Given the description of an element on the screen output the (x, y) to click on. 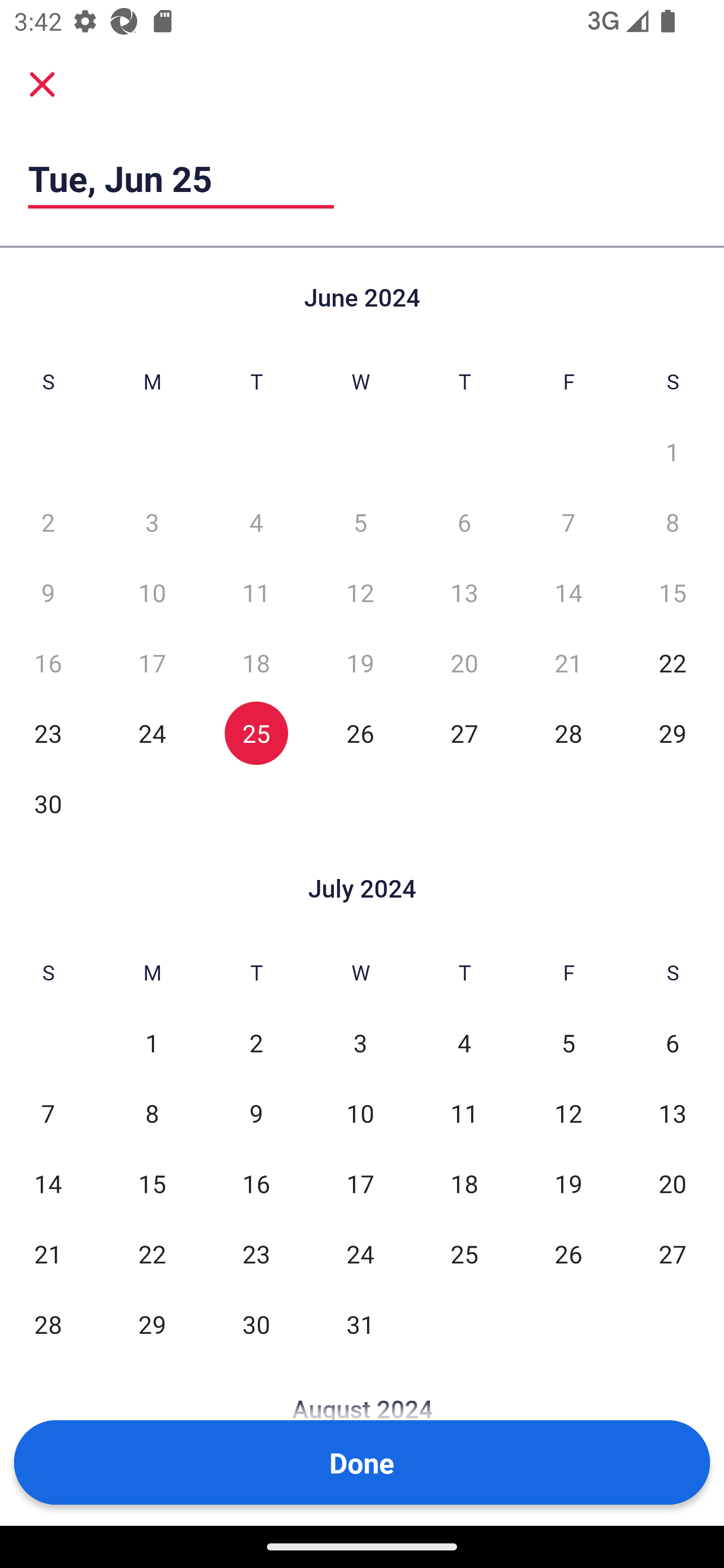
Cancel (41, 83)
Tue, Jun 25 (180, 178)
1 Sat, Jun 1, Not Selected (672, 452)
2 Sun, Jun 2, Not Selected (48, 521)
3 Mon, Jun 3, Not Selected (152, 521)
4 Tue, Jun 4, Not Selected (256, 521)
5 Wed, Jun 5, Not Selected (360, 521)
6 Thu, Jun 6, Not Selected (464, 521)
7 Fri, Jun 7, Not Selected (568, 521)
8 Sat, Jun 8, Not Selected (672, 521)
9 Sun, Jun 9, Not Selected (48, 591)
10 Mon, Jun 10, Not Selected (152, 591)
11 Tue, Jun 11, Not Selected (256, 591)
12 Wed, Jun 12, Not Selected (360, 591)
13 Thu, Jun 13, Not Selected (464, 591)
14 Fri, Jun 14, Not Selected (568, 591)
15 Sat, Jun 15, Not Selected (672, 591)
16 Sun, Jun 16, Not Selected (48, 662)
17 Mon, Jun 17, Not Selected (152, 662)
18 Tue, Jun 18, Not Selected (256, 662)
19 Wed, Jun 19, Not Selected (360, 662)
20 Thu, Jun 20, Not Selected (464, 662)
21 Fri, Jun 21, Not Selected (568, 662)
22 Sat, Jun 22, Not Selected (672, 662)
23 Sun, Jun 23, Not Selected (48, 732)
24 Mon, Jun 24, Not Selected (152, 732)
25 Tue, Jun 25, Selected (256, 732)
26 Wed, Jun 26, Not Selected (360, 732)
27 Thu, Jun 27, Not Selected (464, 732)
28 Fri, Jun 28, Not Selected (568, 732)
29 Sat, Jun 29, Not Selected (672, 732)
30 Sun, Jun 30, Not Selected (48, 803)
1 Mon, Jul 1, Not Selected (152, 1043)
2 Tue, Jul 2, Not Selected (256, 1043)
3 Wed, Jul 3, Not Selected (360, 1043)
4 Thu, Jul 4, Not Selected (464, 1043)
5 Fri, Jul 5, Not Selected (568, 1043)
6 Sat, Jul 6, Not Selected (672, 1043)
7 Sun, Jul 7, Not Selected (48, 1112)
8 Mon, Jul 8, Not Selected (152, 1112)
9 Tue, Jul 9, Not Selected (256, 1112)
10 Wed, Jul 10, Not Selected (360, 1112)
11 Thu, Jul 11, Not Selected (464, 1112)
12 Fri, Jul 12, Not Selected (568, 1112)
13 Sat, Jul 13, Not Selected (672, 1112)
14 Sun, Jul 14, Not Selected (48, 1182)
15 Mon, Jul 15, Not Selected (152, 1182)
16 Tue, Jul 16, Not Selected (256, 1182)
17 Wed, Jul 17, Not Selected (360, 1182)
18 Thu, Jul 18, Not Selected (464, 1182)
19 Fri, Jul 19, Not Selected (568, 1182)
20 Sat, Jul 20, Not Selected (672, 1182)
21 Sun, Jul 21, Not Selected (48, 1253)
22 Mon, Jul 22, Not Selected (152, 1253)
23 Tue, Jul 23, Not Selected (256, 1253)
24 Wed, Jul 24, Not Selected (360, 1253)
25 Thu, Jul 25, Not Selected (464, 1253)
26 Fri, Jul 26, Not Selected (568, 1253)
27 Sat, Jul 27, Not Selected (672, 1253)
28 Sun, Jul 28, Not Selected (48, 1323)
29 Mon, Jul 29, Not Selected (152, 1323)
30 Tue, Jul 30, Not Selected (256, 1323)
31 Wed, Jul 31, Not Selected (360, 1323)
Done Button Done (361, 1462)
